Given the description of an element on the screen output the (x, y) to click on. 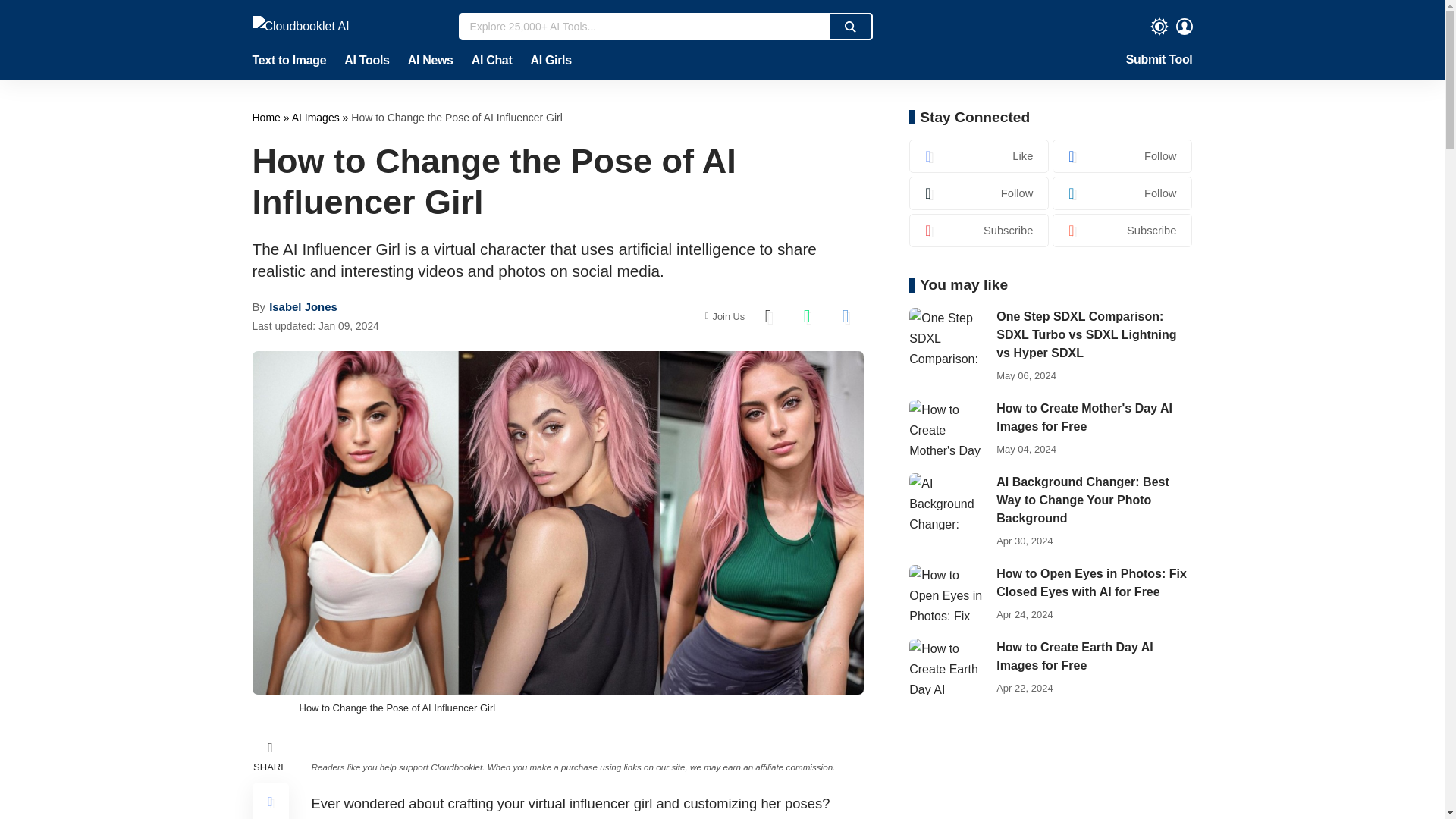
Cloudbooklet AI (346, 25)
Home (266, 117)
AI Chat (492, 60)
AI Tools (365, 60)
AI Girls (545, 60)
How to Create Earth Day AI Images for Free (946, 666)
Text to Image (292, 60)
Cloudbooklet AI (266, 117)
